Given the description of an element on the screen output the (x, y) to click on. 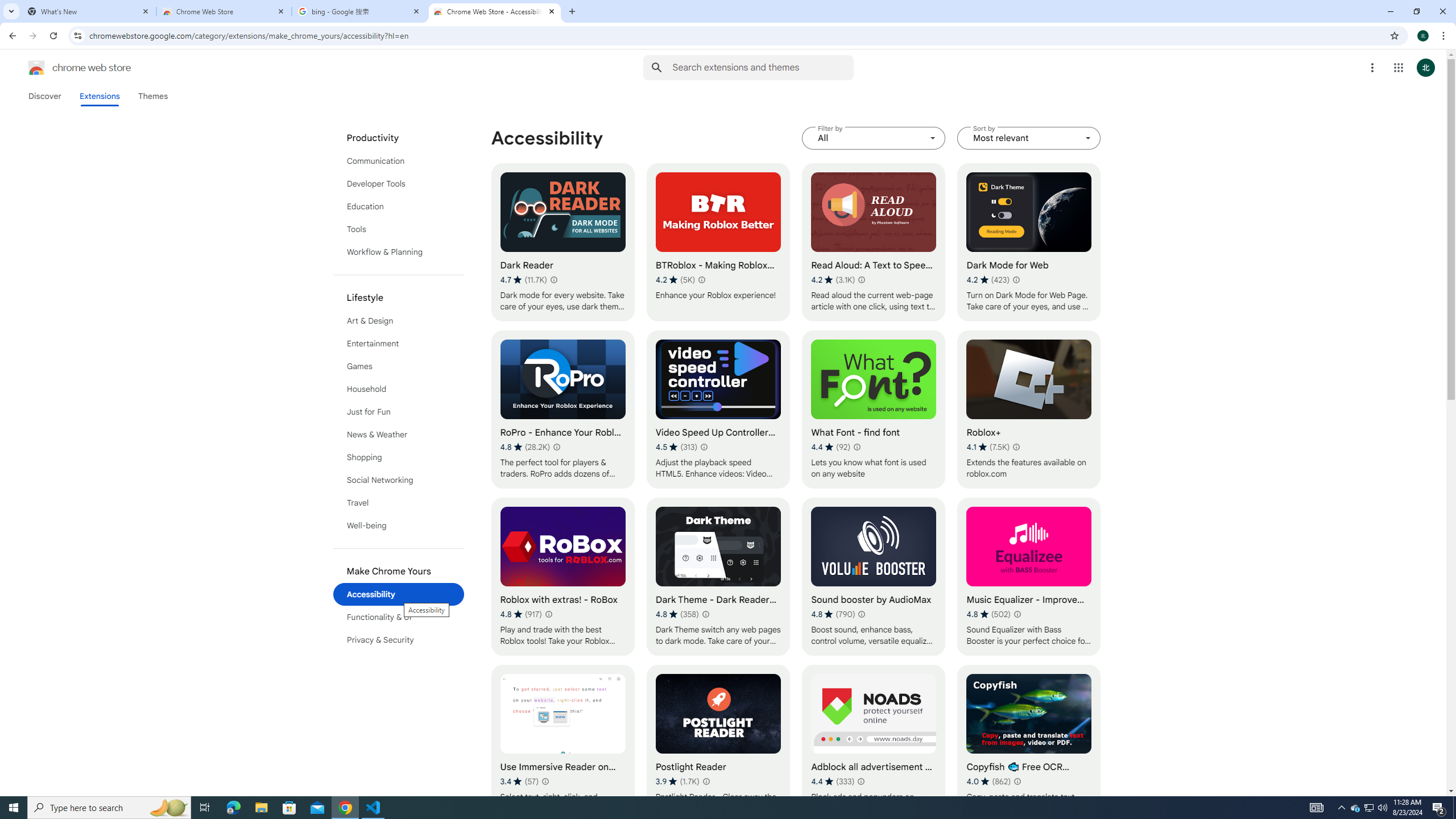
Dark Theme - Dark Reader for Web (718, 576)
Average rating 4.8 out of 5 stars. 790 ratings. (833, 613)
Extensions (99, 95)
Average rating 4.2 out of 5 stars. 3.1K ratings. (833, 279)
Household (398, 388)
Average rating 4.7 out of 5 stars. 11.7K ratings. (523, 279)
Average rating 3.9 out of 5 stars. 1.7K ratings. (676, 781)
Dark Reader (562, 241)
Music Equalizer - Improve Sound for everyone (1028, 576)
Search input (762, 67)
Learn more about results and reviews "Postlight Reader" (705, 780)
Sound booster by AudioMax (874, 576)
